Given the description of an element on the screen output the (x, y) to click on. 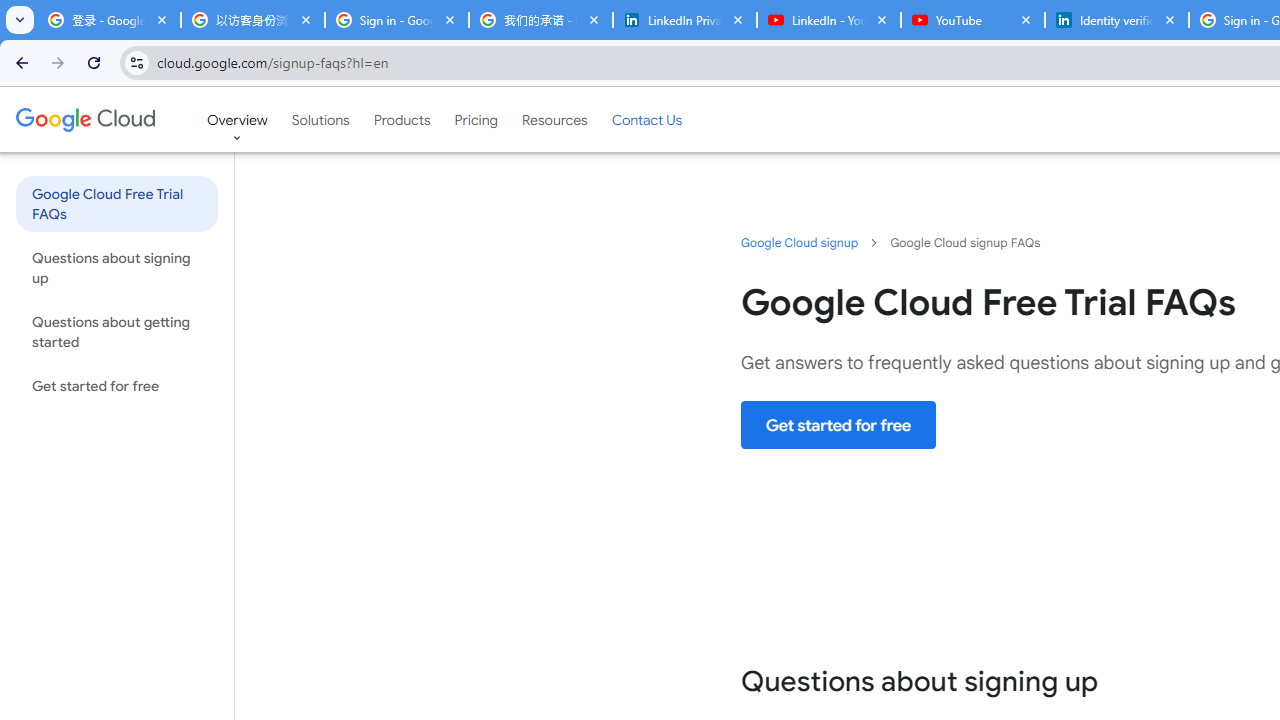
Google Cloud Free Trial FAQs (116, 203)
LinkedIn Privacy Policy (684, 20)
Products (401, 119)
Contact Us (646, 119)
Sign in - Google Accounts (396, 20)
LinkedIn - YouTube (828, 20)
Solutions (320, 119)
Google Cloud (84, 119)
